Given the description of an element on the screen output the (x, y) to click on. 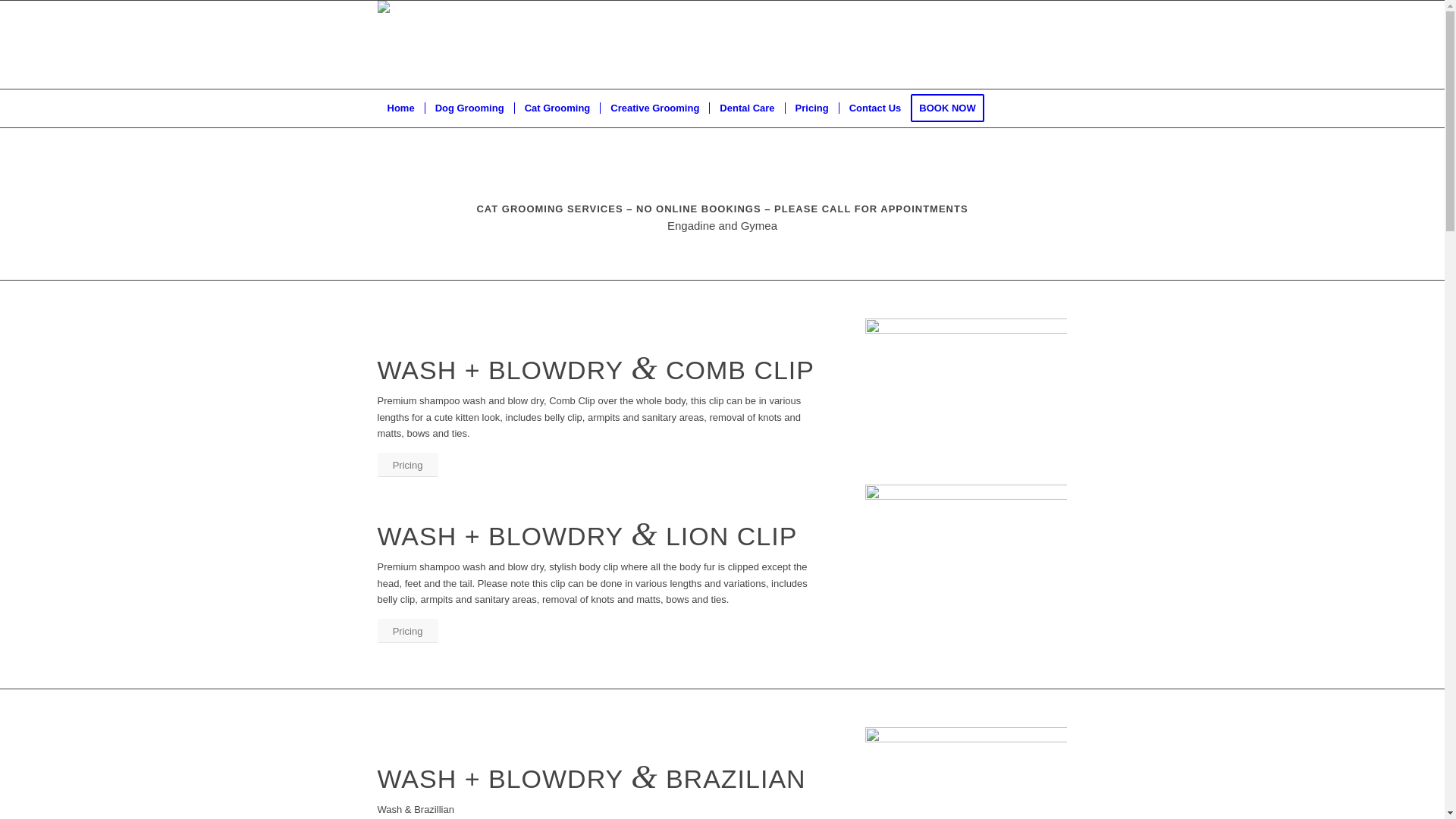
Pricing Element type: text (811, 108)
Home Element type: text (400, 108)
Pricing Element type: text (407, 630)
Cat Grooming Element type: text (557, 108)
Dog Grooming Element type: text (469, 108)
Creative Grooming Element type: text (654, 108)
Contact Us Element type: text (874, 108)
Dental Care Element type: text (746, 108)
BOOK NOW Element type: text (951, 108)
Pricing Element type: text (407, 464)
